Given the description of an element on the screen output the (x, y) to click on. 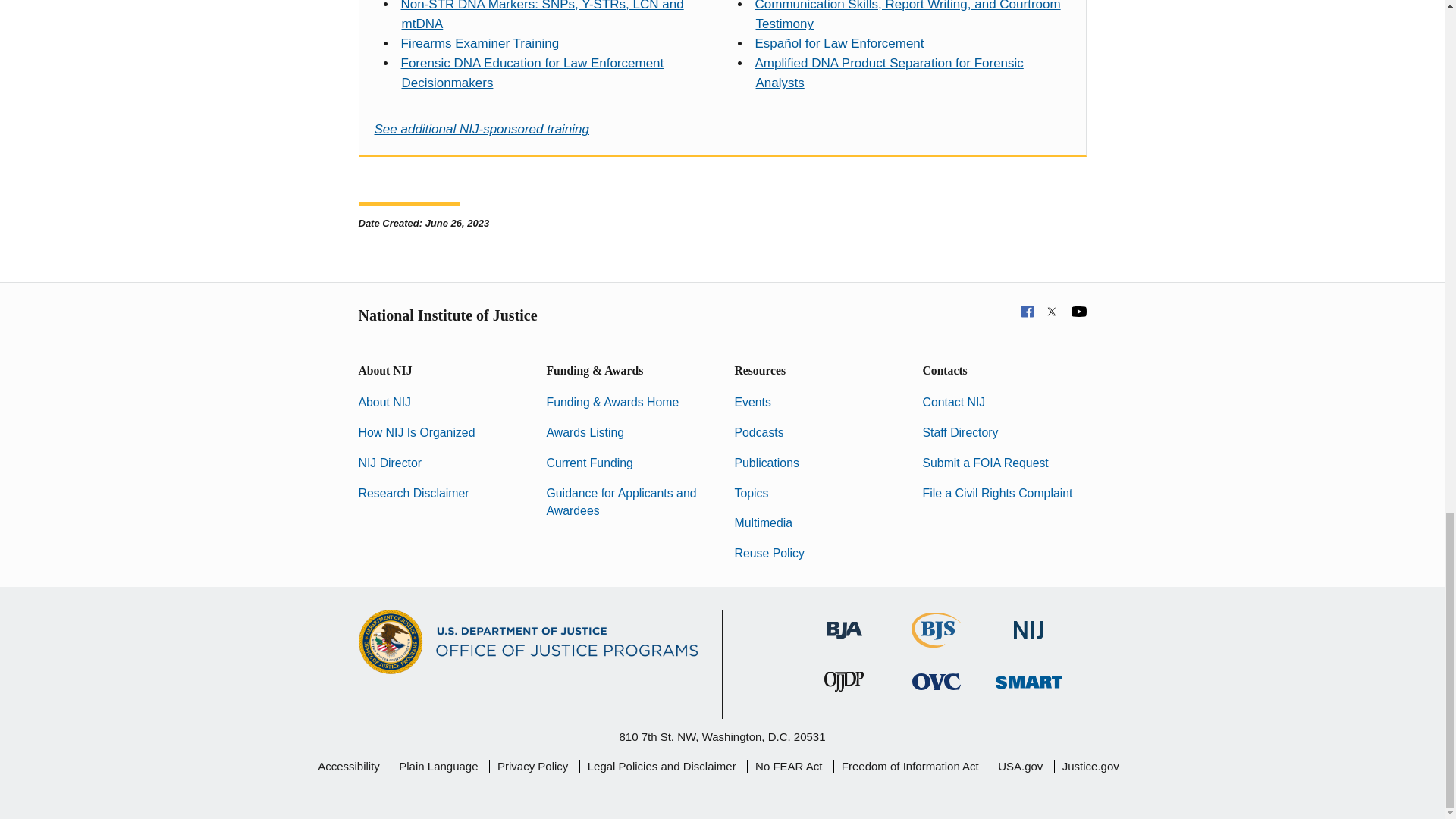
Home (479, 43)
Home (531, 73)
Home (541, 15)
